Given the description of an element on the screen output the (x, y) to click on. 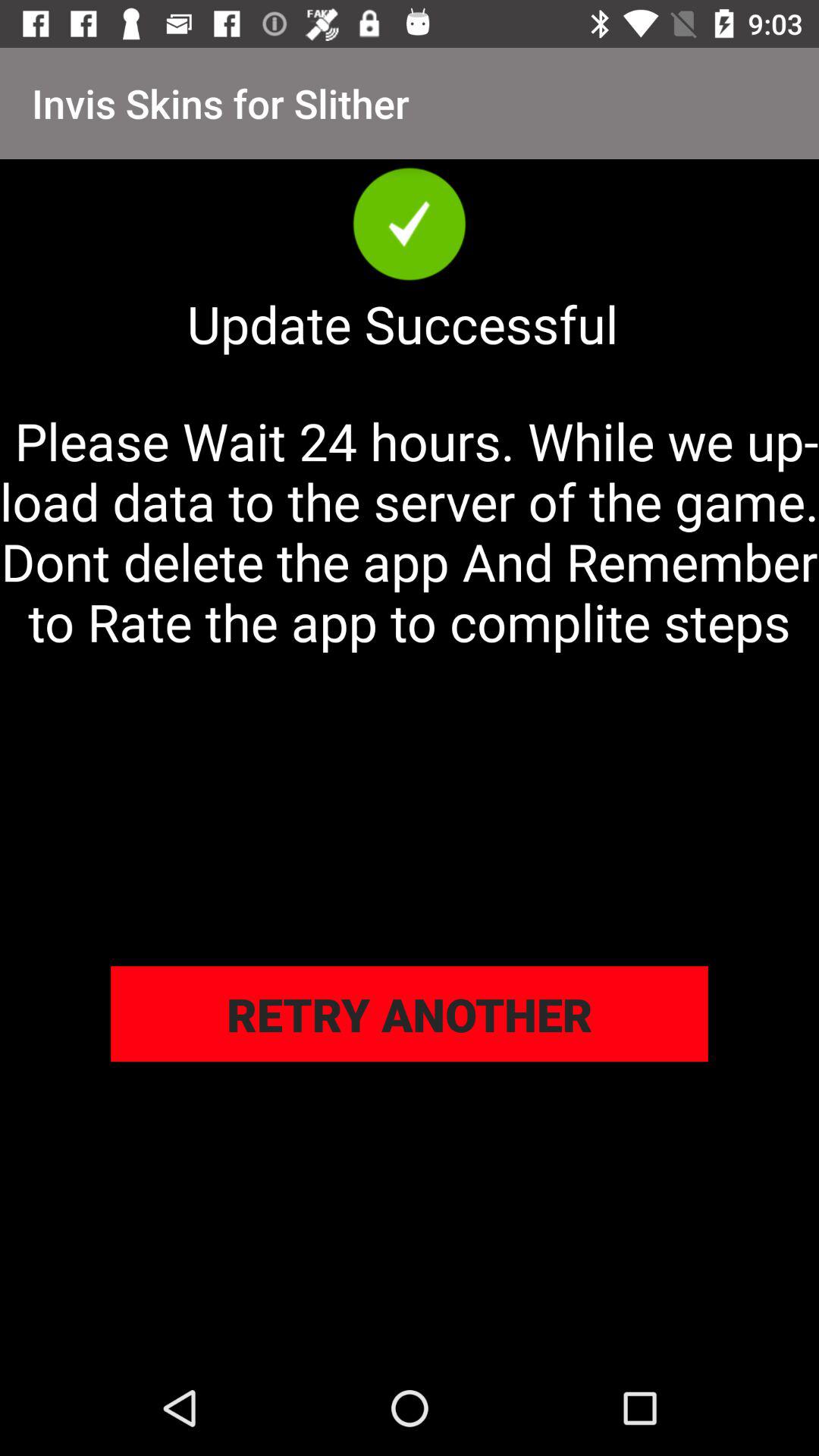
open icon below please wait 24 icon (409, 1013)
